Given the description of an element on the screen output the (x, y) to click on. 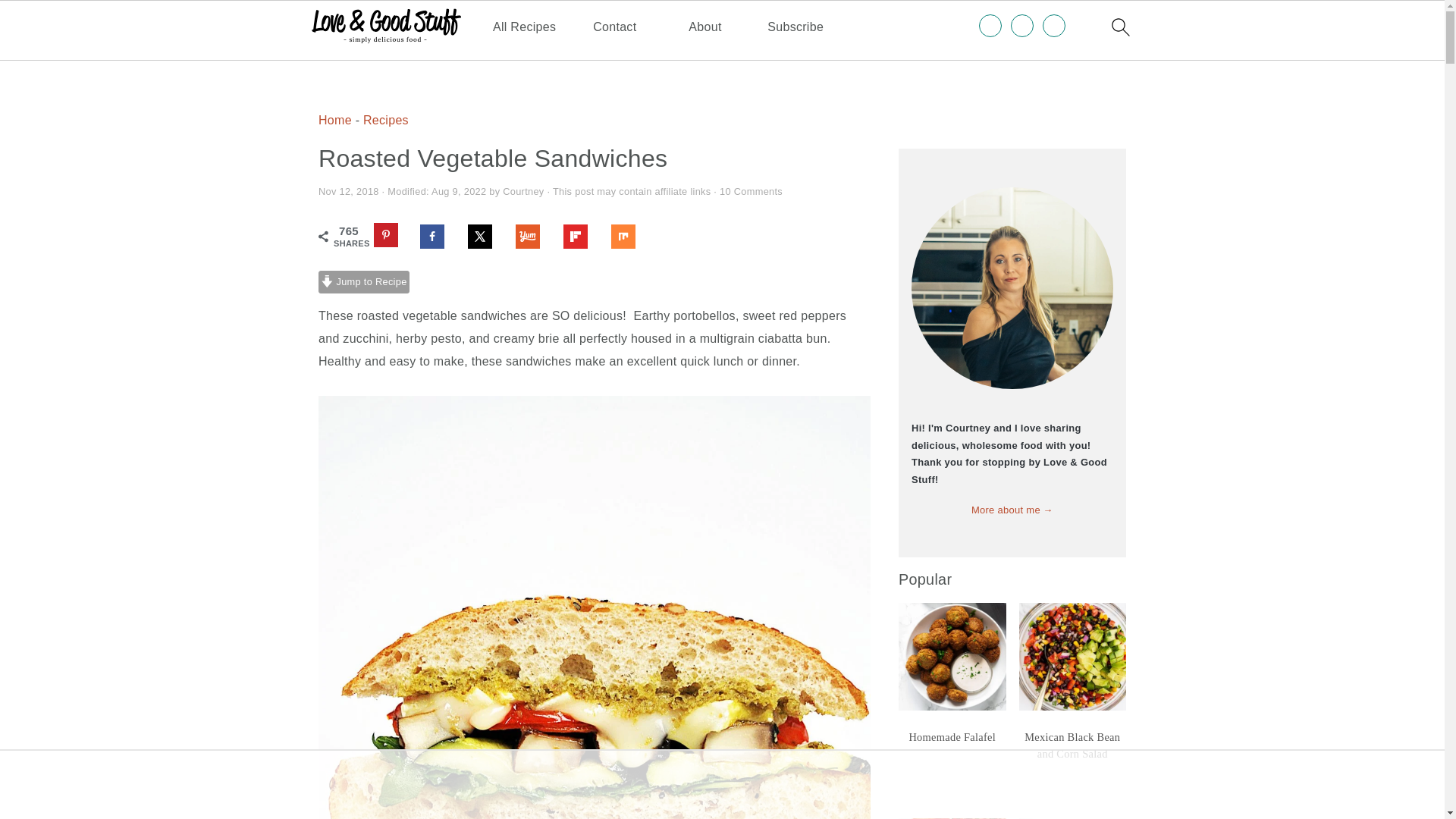
Share on Mix (630, 236)
Subscribe (795, 26)
Save to Pinterest (392, 236)
Share on Flipboard (582, 236)
Recipes (385, 119)
Contact (614, 26)
10 Comments (751, 191)
Courtney (522, 191)
Share on Yummly (534, 236)
